Given the description of an element on the screen output the (x, y) to click on. 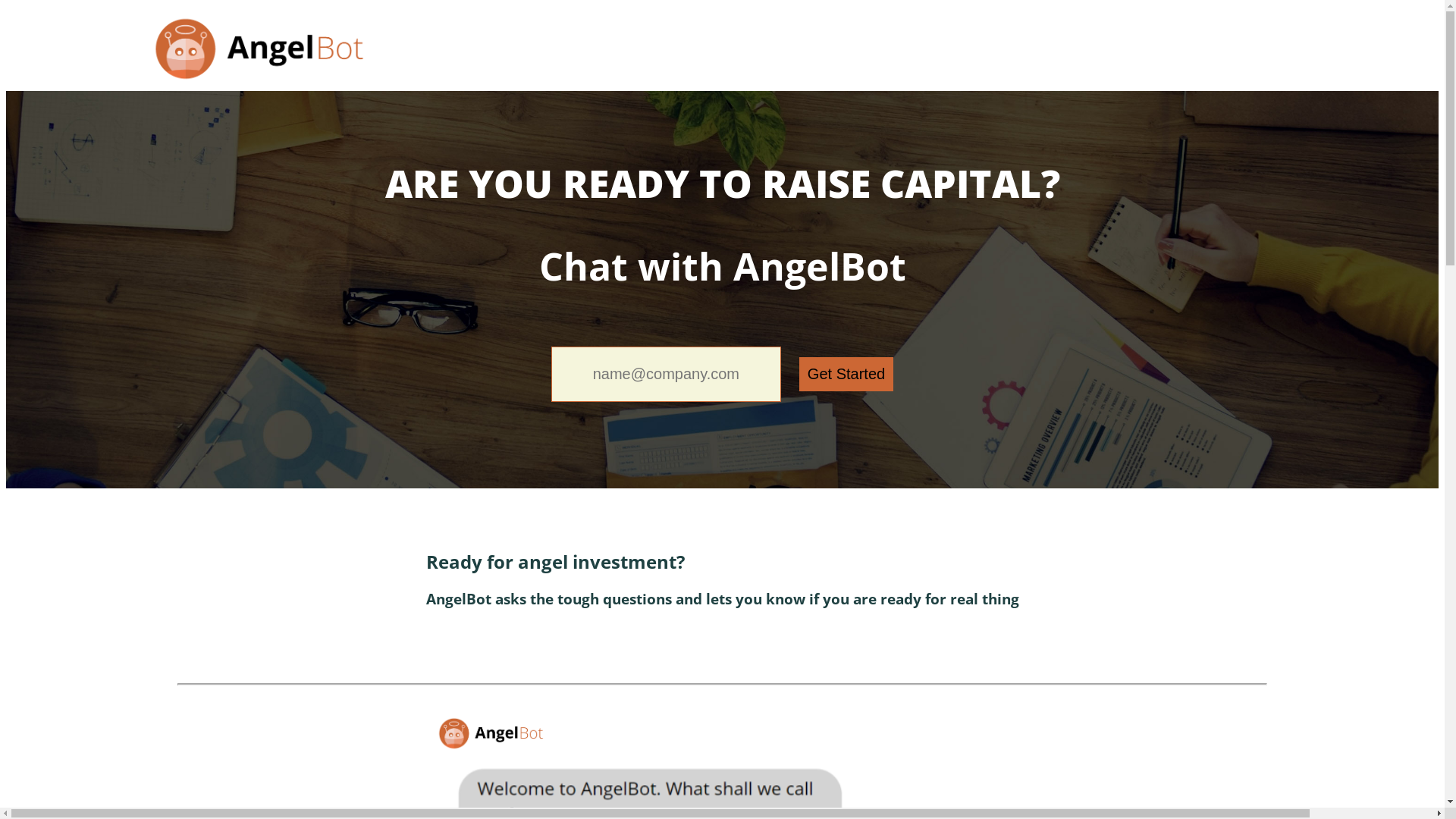
Get Started Element type: text (846, 374)
